Given the description of an element on the screen output the (x, y) to click on. 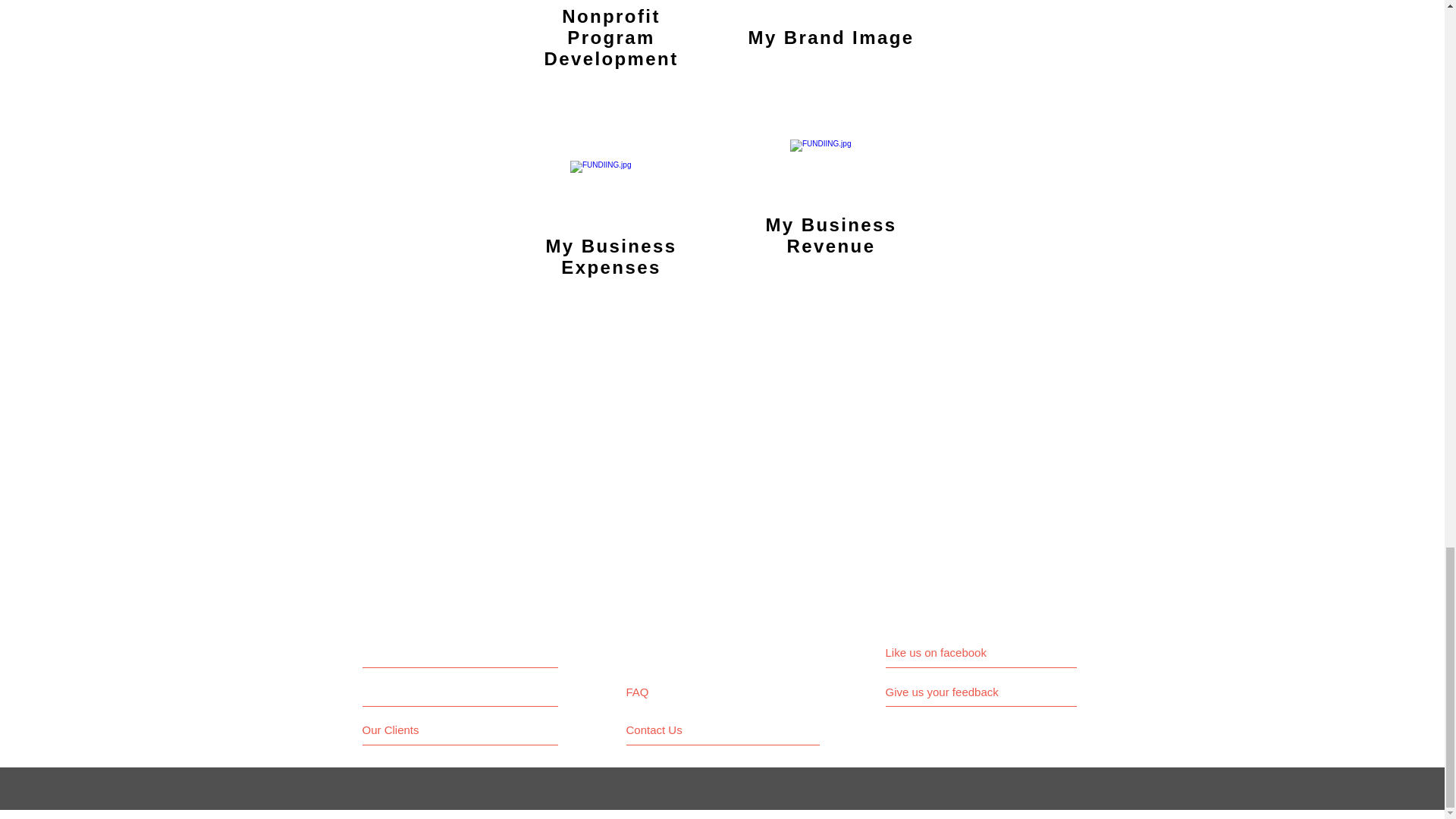
Give us your feedback (949, 691)
My Business Revenue (830, 235)
Our Clients (419, 729)
Contact Us (683, 729)
FAQ (669, 691)
Like us on facebook (953, 652)
